Given the description of an element on the screen output the (x, y) to click on. 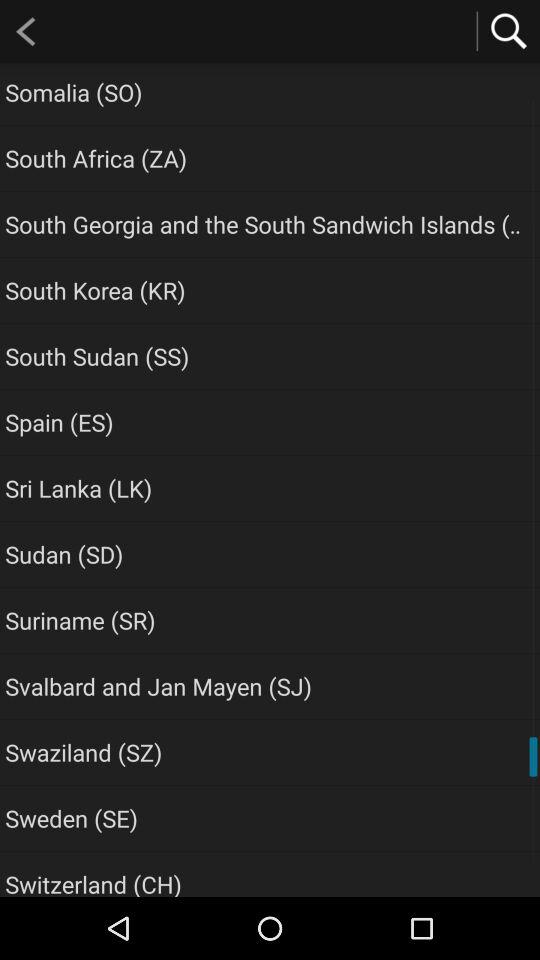
scroll until south sudan (ss) item (97, 356)
